Given the description of an element on the screen output the (x, y) to click on. 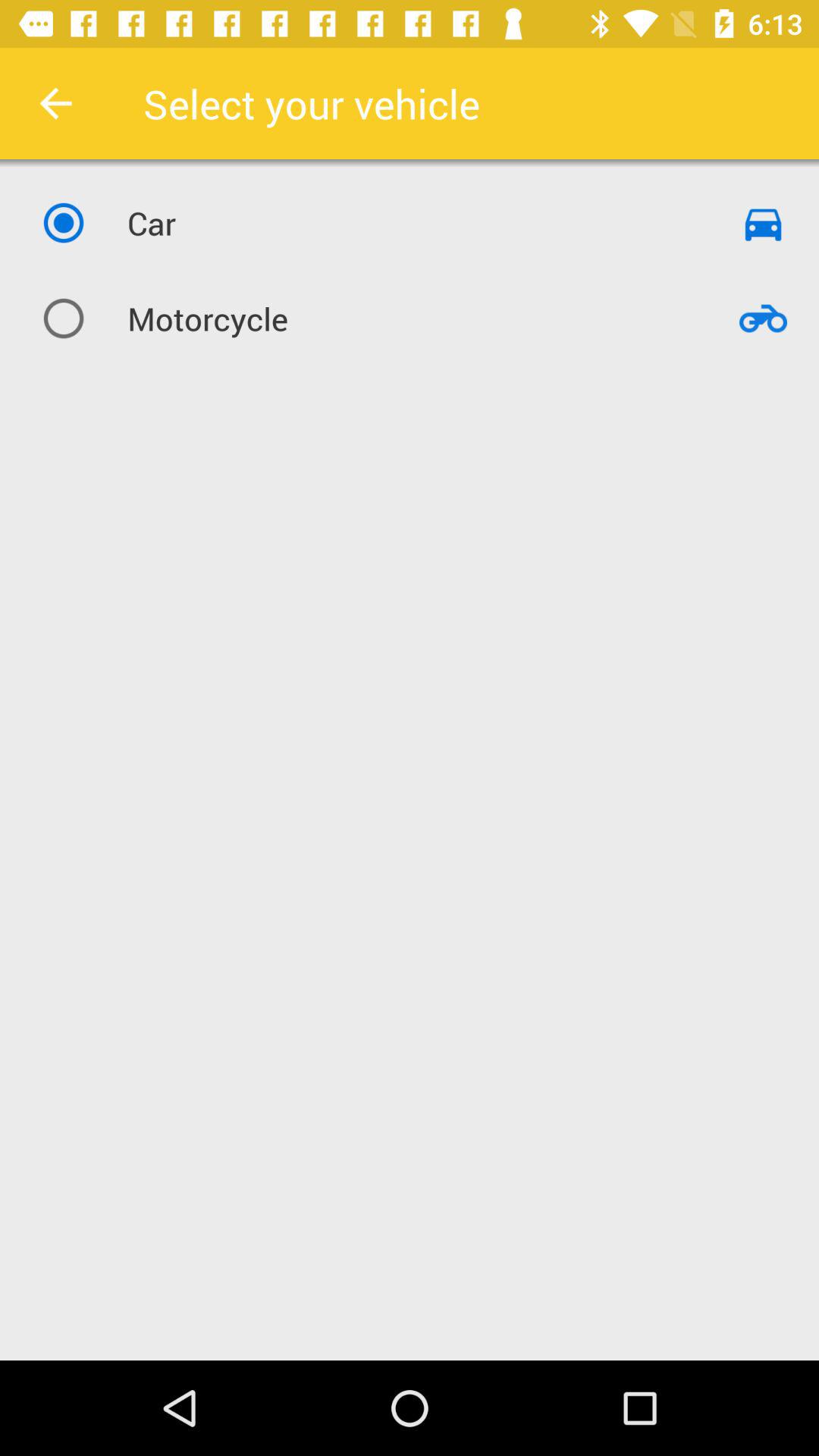
open the item to the left of the select your vehicle icon (55, 103)
